Given the description of an element on the screen output the (x, y) to click on. 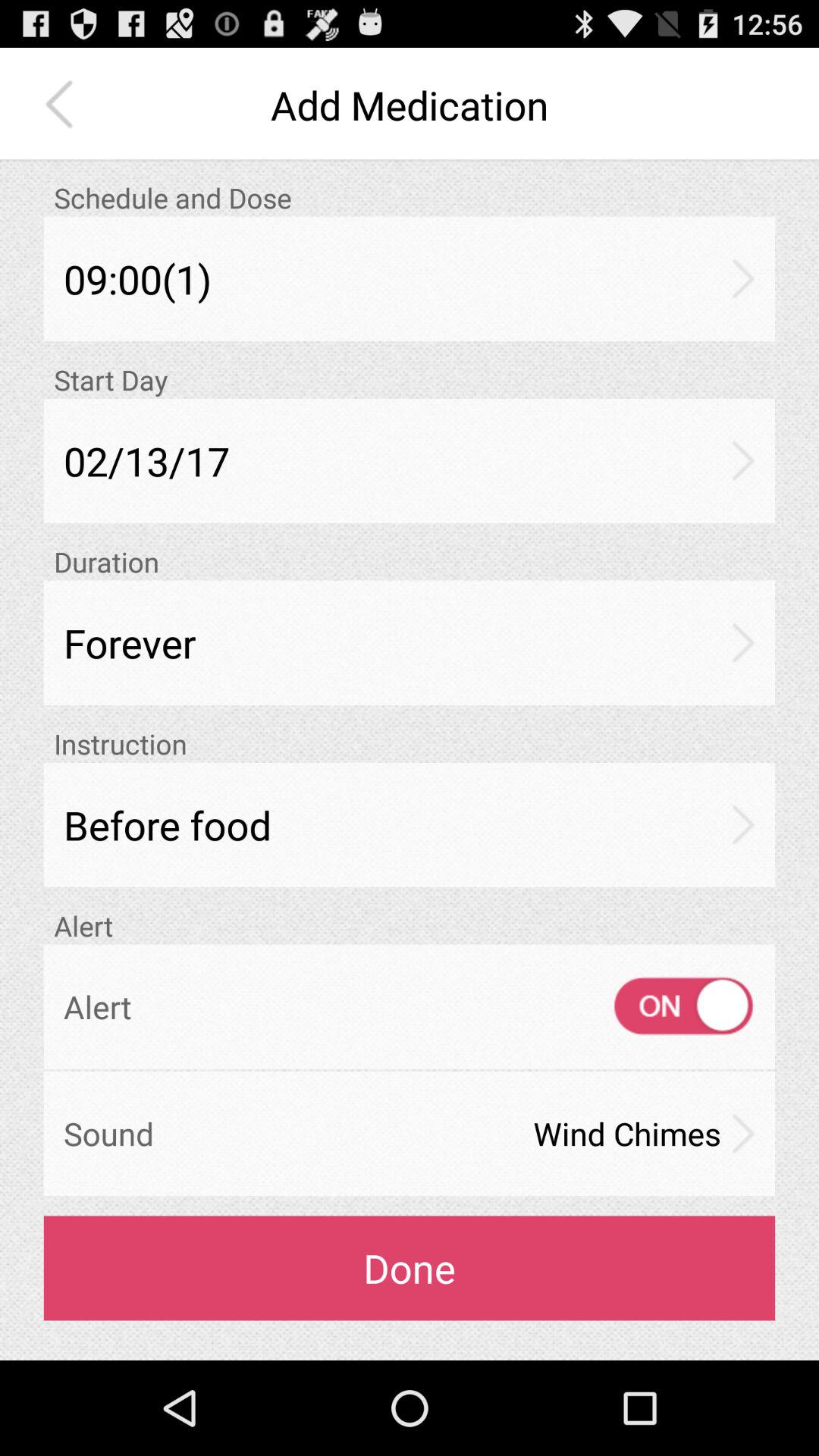
turn off the item above start day item (409, 278)
